Given the description of an element on the screen output the (x, y) to click on. 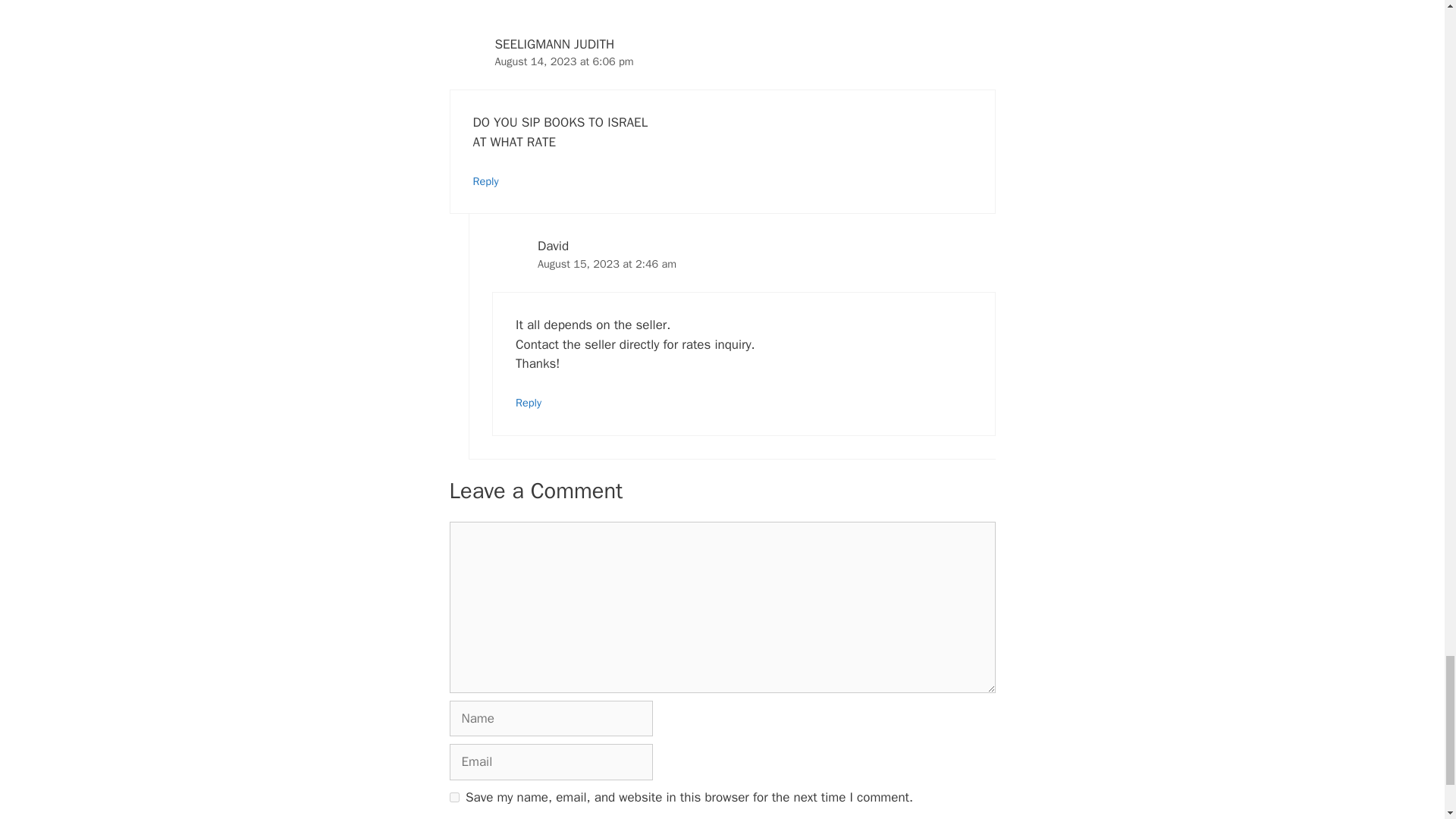
yes (453, 797)
